Given the description of an element on the screen output the (x, y) to click on. 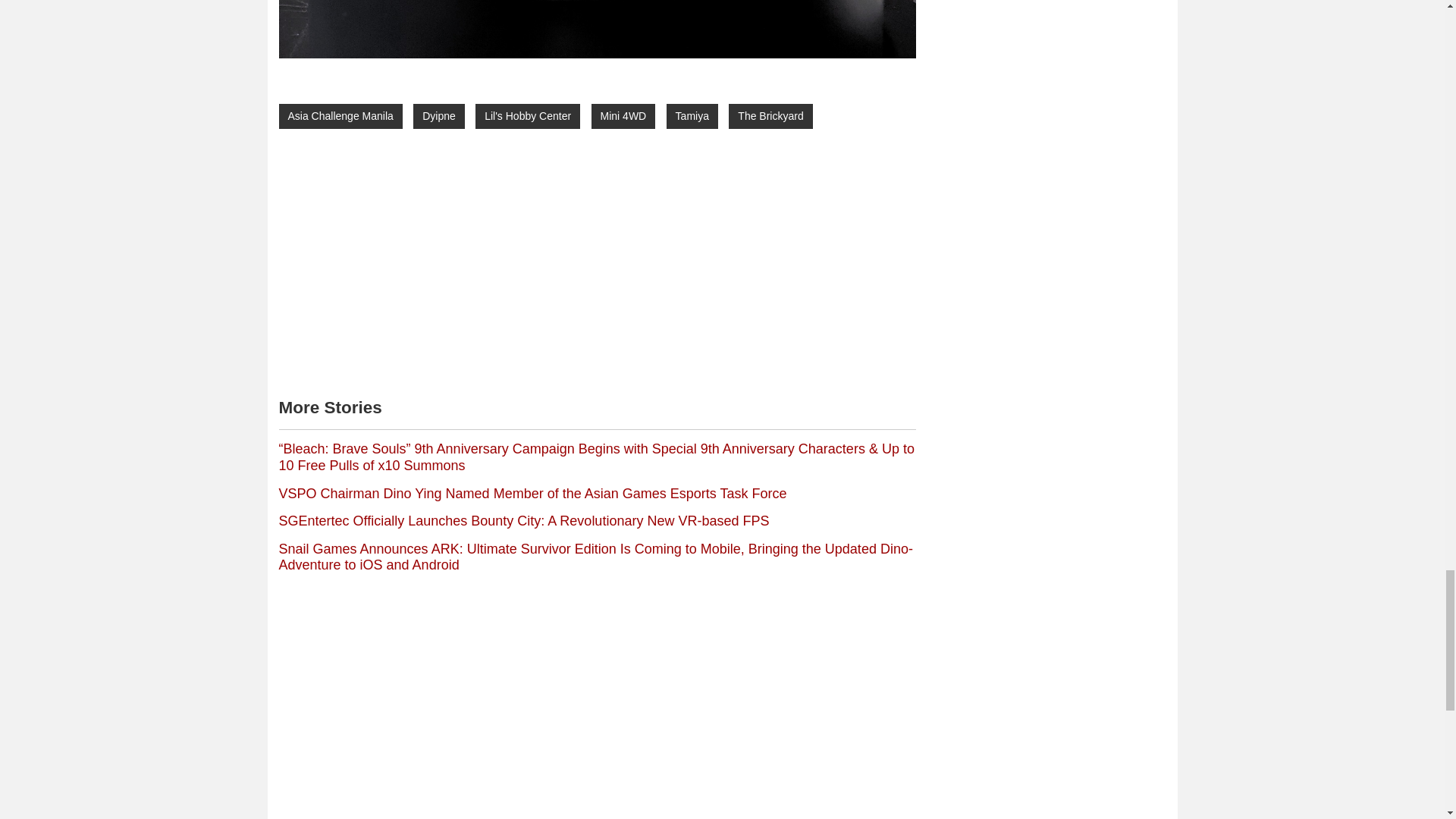
Lil's Hobby Center (527, 116)
Mini 4WD (623, 116)
Tamiya (691, 116)
The Brickyard (770, 116)
Asia Challenge Manila (341, 116)
Dyipne (438, 116)
